Given the description of an element on the screen output the (x, y) to click on. 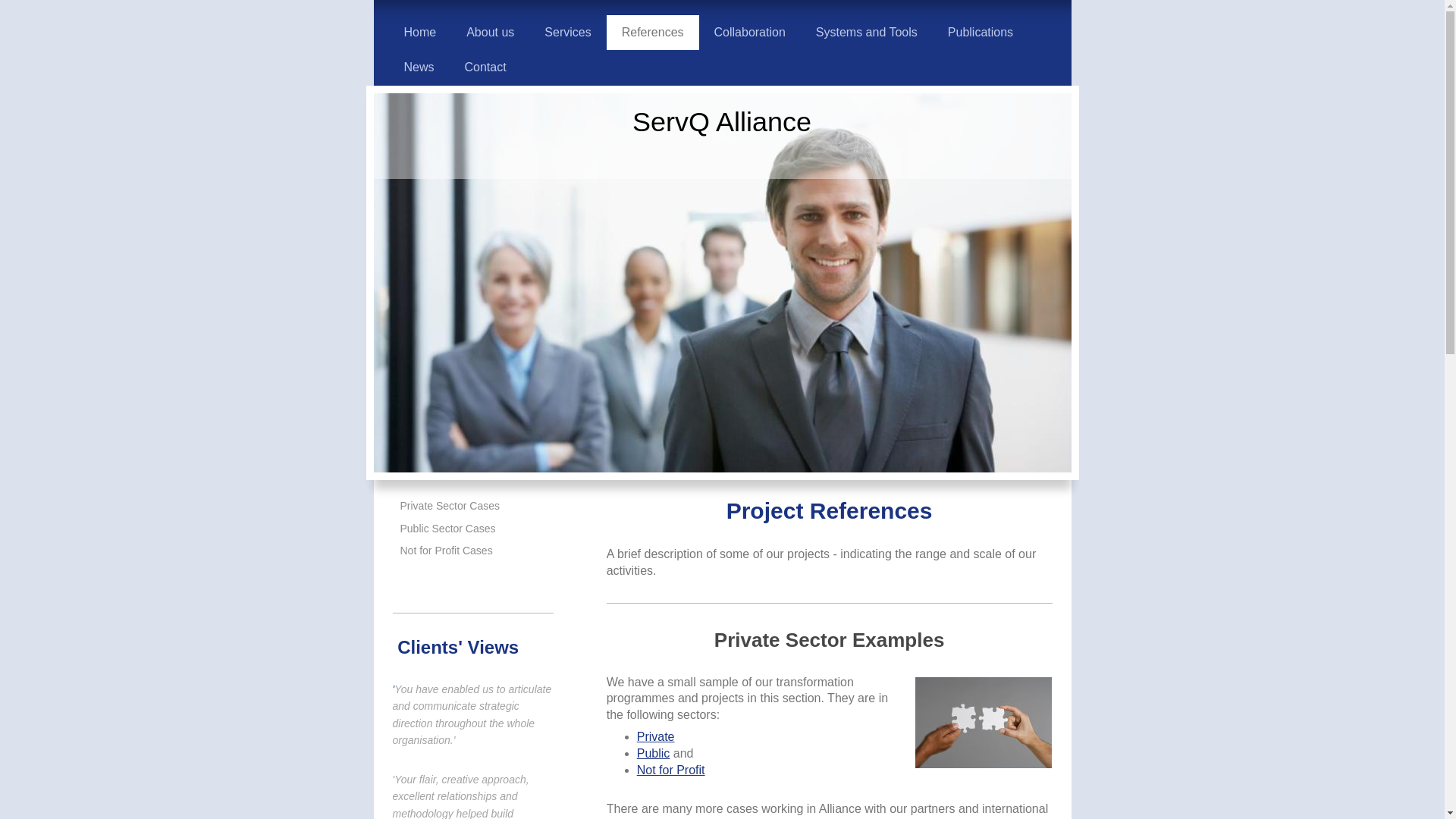
About us (490, 32)
ServQ Alliance (720, 121)
References (652, 32)
Home (419, 32)
Collaboration (749, 32)
Systems and Tools (866, 32)
Services (567, 32)
